Given the description of an element on the screen output the (x, y) to click on. 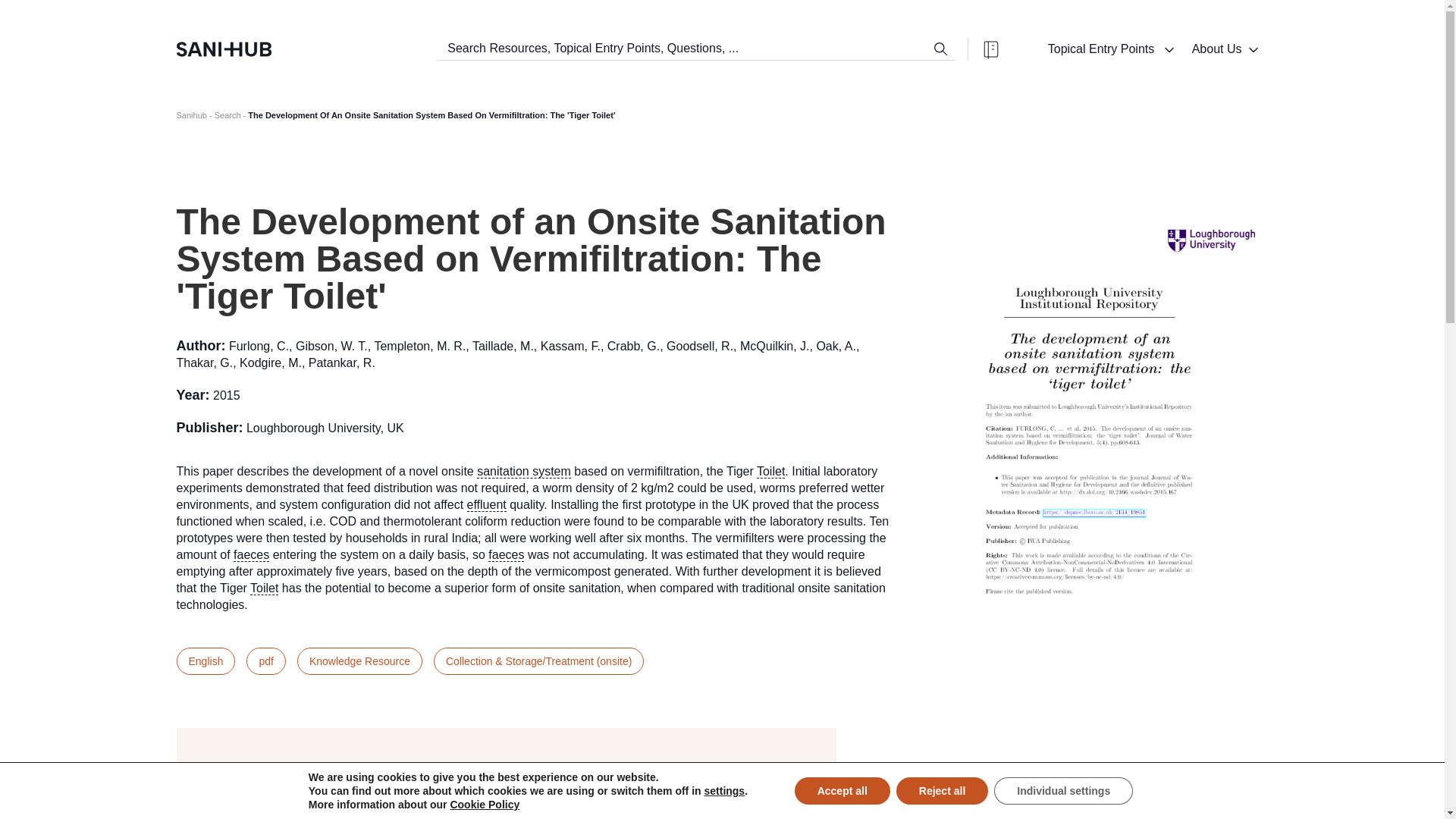
Search (227, 114)
pdf (265, 660)
Sanihub (191, 114)
Search (941, 48)
Knowledge Resource (359, 660)
English (205, 660)
